Given the description of an element on the screen output the (x, y) to click on. 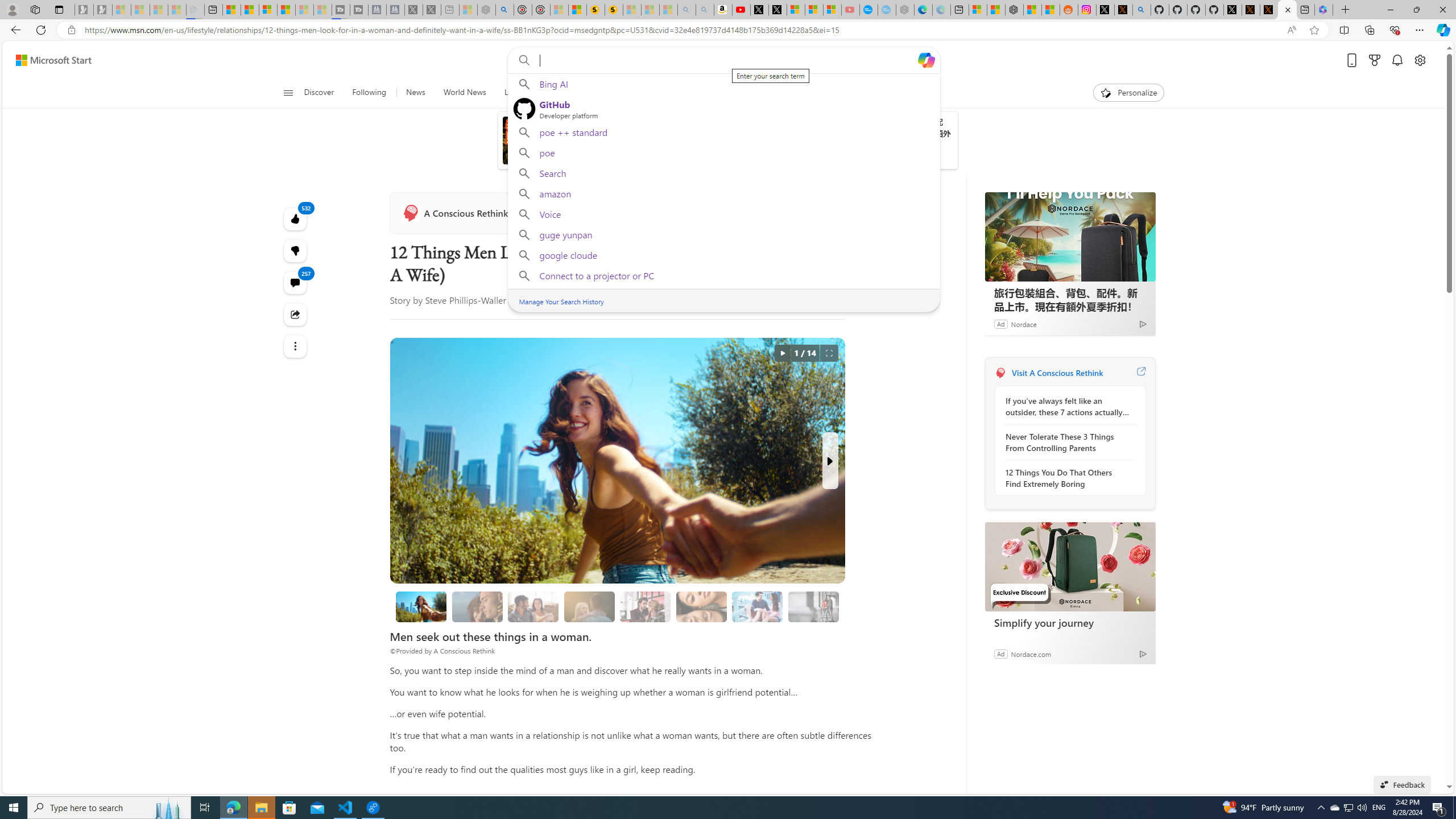
Enter your search term (726, 59)
Bing AI (723, 83)
Nordace - Nordace has arrived Hong Kong - Sleeping (904, 9)
Overview (268, 9)
Politics (694, 92)
7. She can communicate her needs and wants. (813, 606)
View comments 257 Comment (295, 282)
GitHub GitHub (723, 108)
Voice (723, 213)
